Given the description of an element on the screen output the (x, y) to click on. 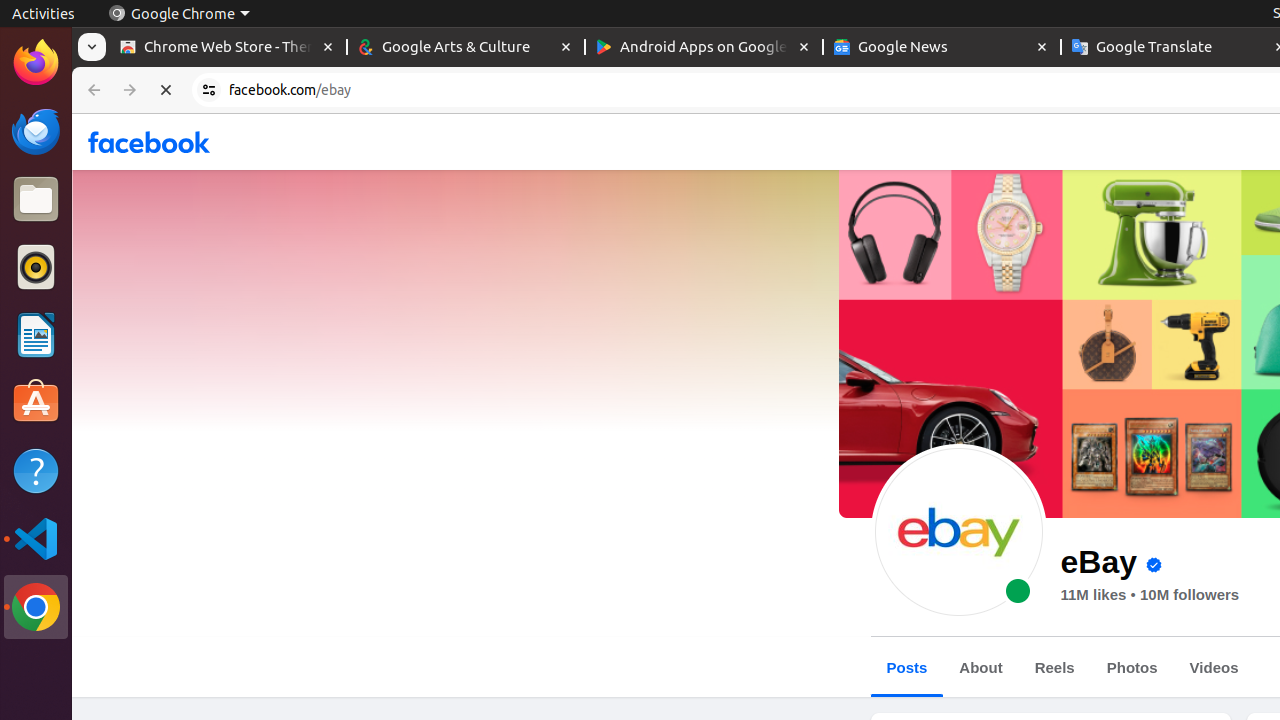
Google Chrome Element type: menu (179, 13)
Posts Element type: page-tab (907, 667)
Android Apps on Google Play - Memory usage - 60.7 MB Element type: page-tab (704, 47)
LibreOffice Writer Element type: push-button (36, 334)
Verified Element type: push-button (1153, 565)
